Given the description of an element on the screen output the (x, y) to click on. 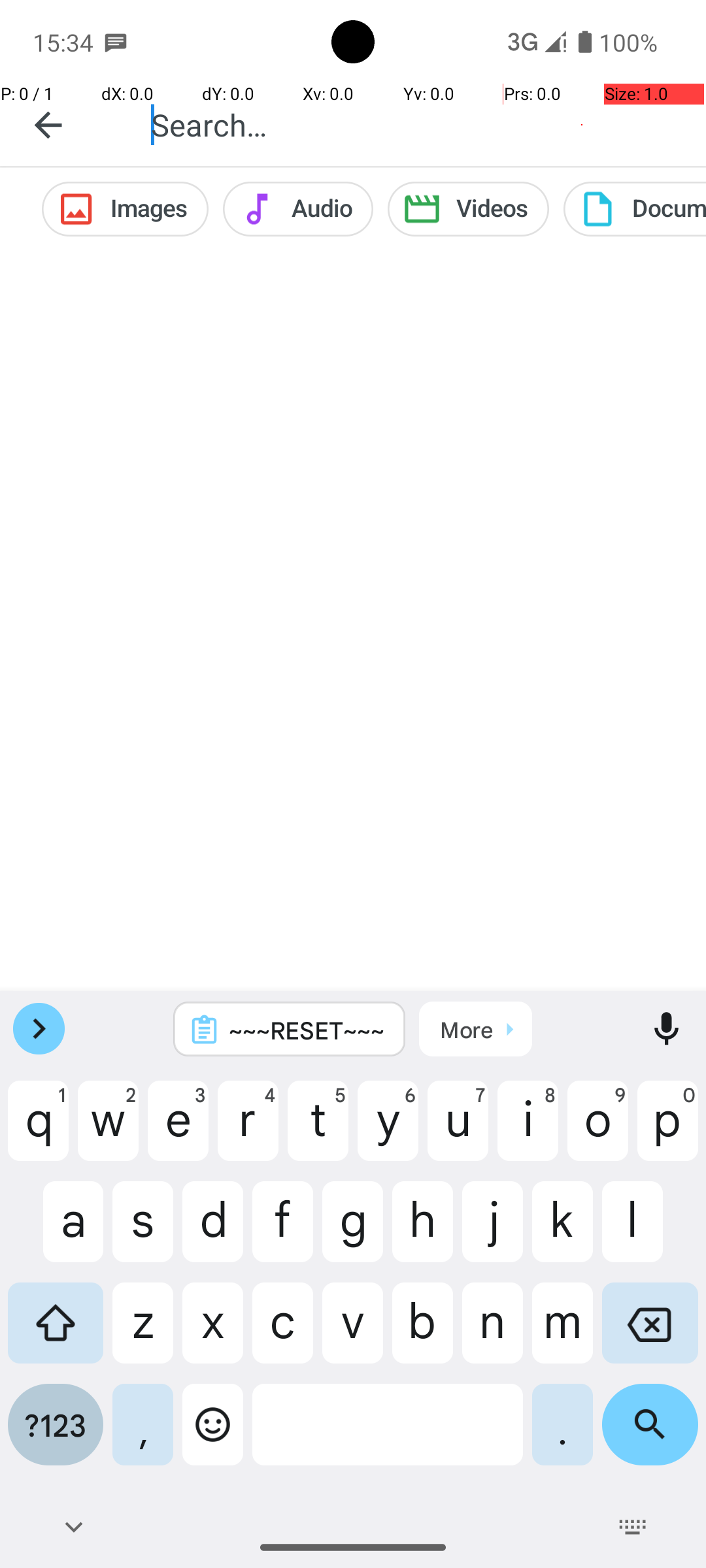
Search… Element type: android.widget.AutoCompleteTextView (414, 124)
Videos Element type: android.widget.CompoundButton (468, 208)
Click to open Clipboard Element type: android.view.ViewGroup (475, 1028)
~~~RESET~~~ Element type: android.widget.TextView (306, 1029)
